Given the description of an element on the screen output the (x, y) to click on. 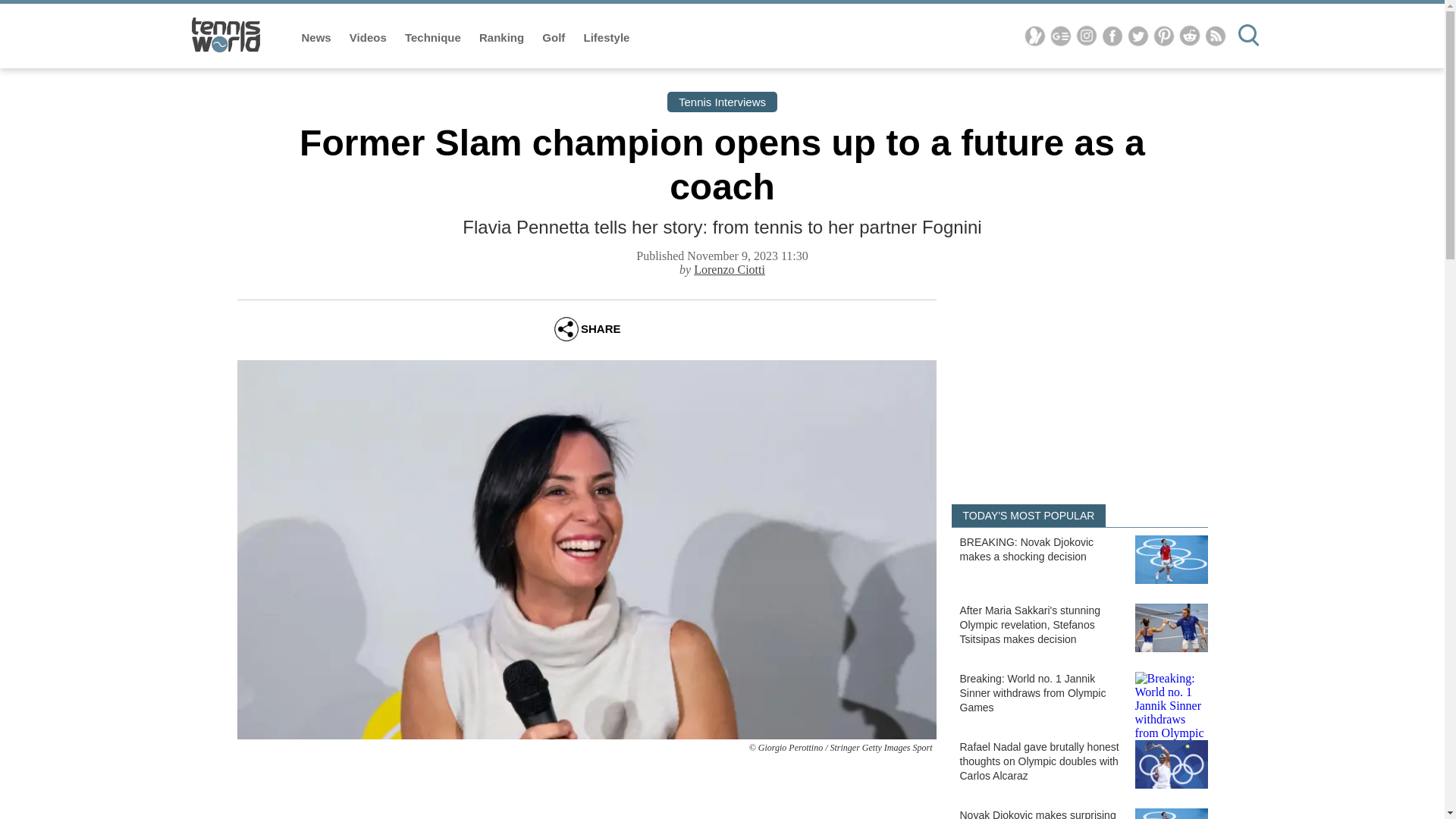
Ranking (503, 37)
Technique (434, 37)
Golf (554, 37)
News (317, 37)
Videos (369, 37)
Lifestyle (606, 37)
